Given the description of an element on the screen output the (x, y) to click on. 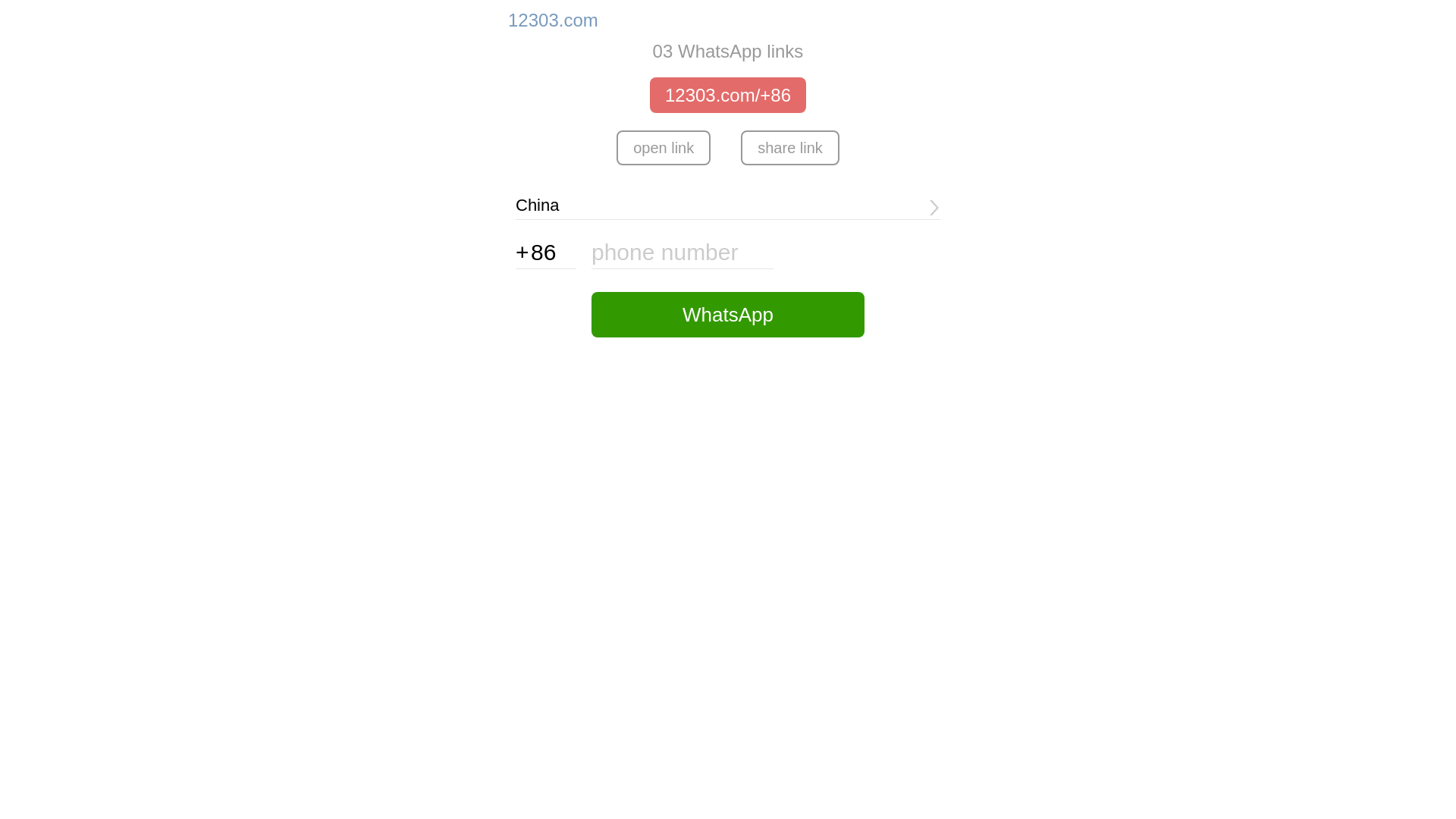
12303.com/+86 Element type: text (727, 94)
open link Element type: text (663, 147)
12303.com Element type: text (553, 20)
share link Element type: text (789, 147)
